Given the description of an element on the screen output the (x, y) to click on. 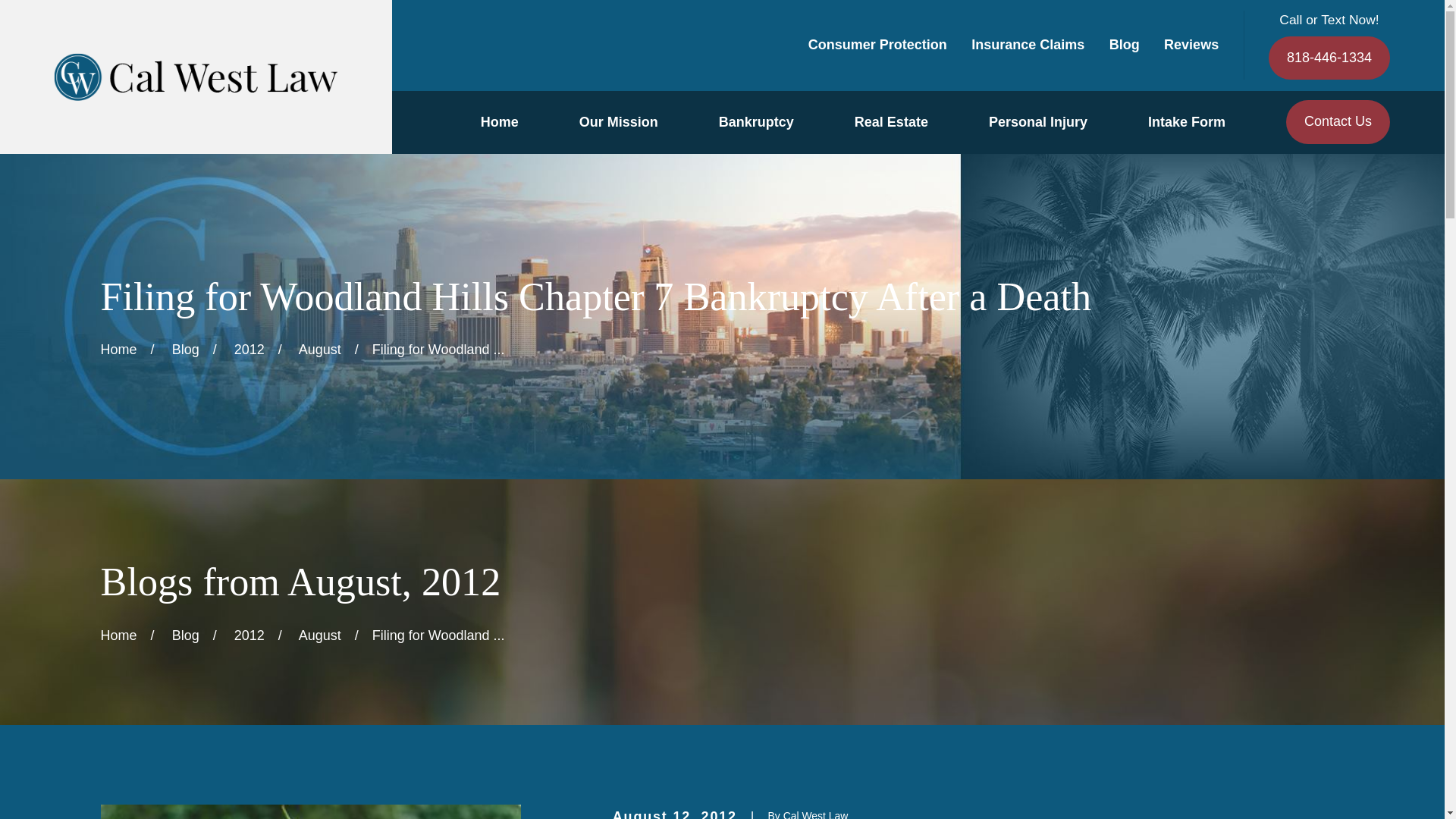
818-446-1334 (1329, 58)
Our Mission (618, 122)
Insurance Claims (1027, 44)
Blog (1124, 44)
Home (195, 76)
Bankruptcy (756, 122)
Intake Form (1186, 122)
Home (499, 122)
Go Home (118, 349)
Reviews (1190, 44)
